Given the description of an element on the screen output the (x, y) to click on. 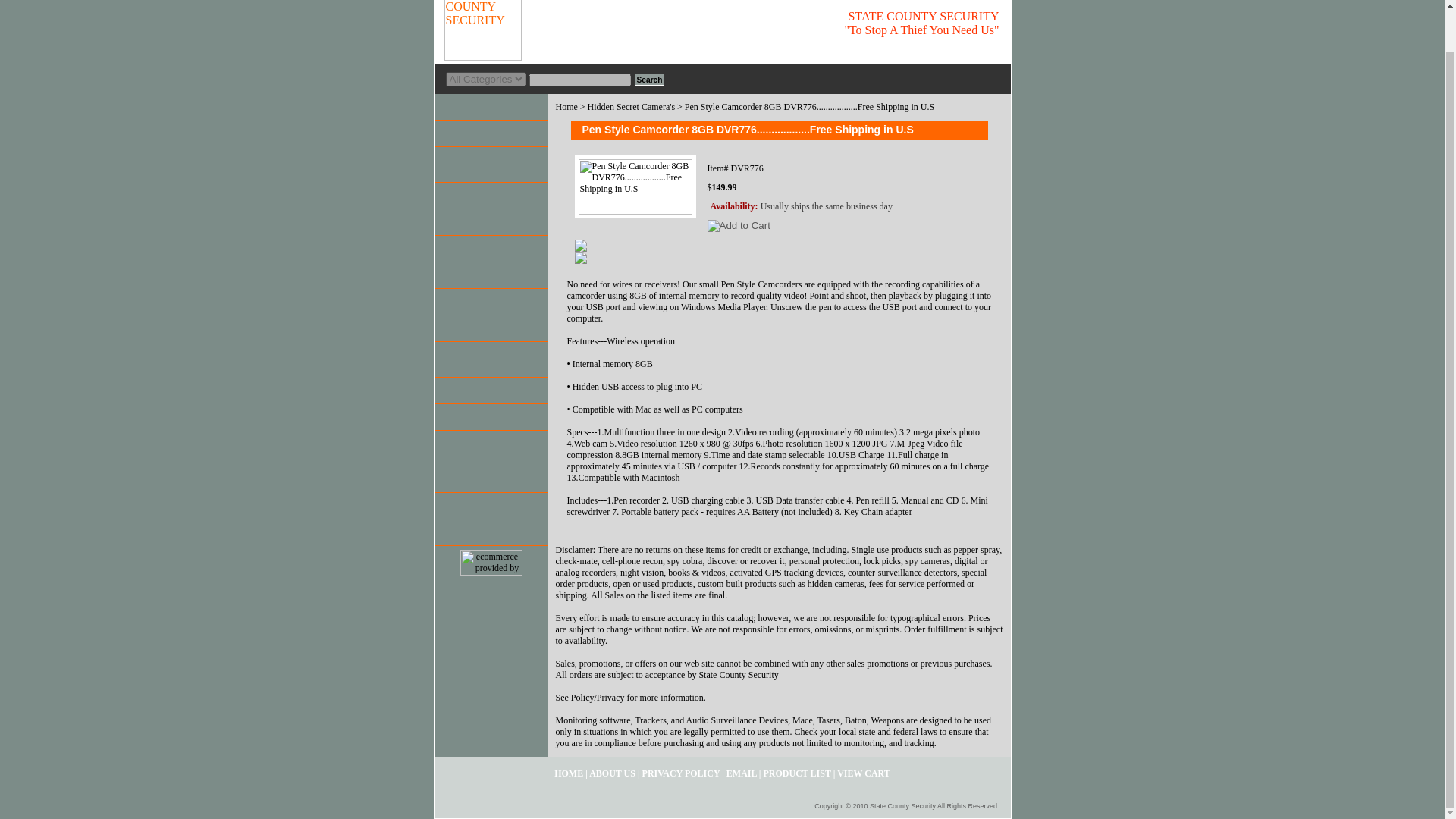
Tracking Equipment (490, 417)
ABOUT US (611, 773)
SALE..................... (490, 107)
Monitors (490, 222)
STATE COUNTY SECURITY (622, 32)
Add to Cart (738, 225)
EMAIL (741, 773)
Return To Service Page (490, 532)
SALE..................... (490, 107)
Search (648, 79)
